Given the description of an element on the screen output the (x, y) to click on. 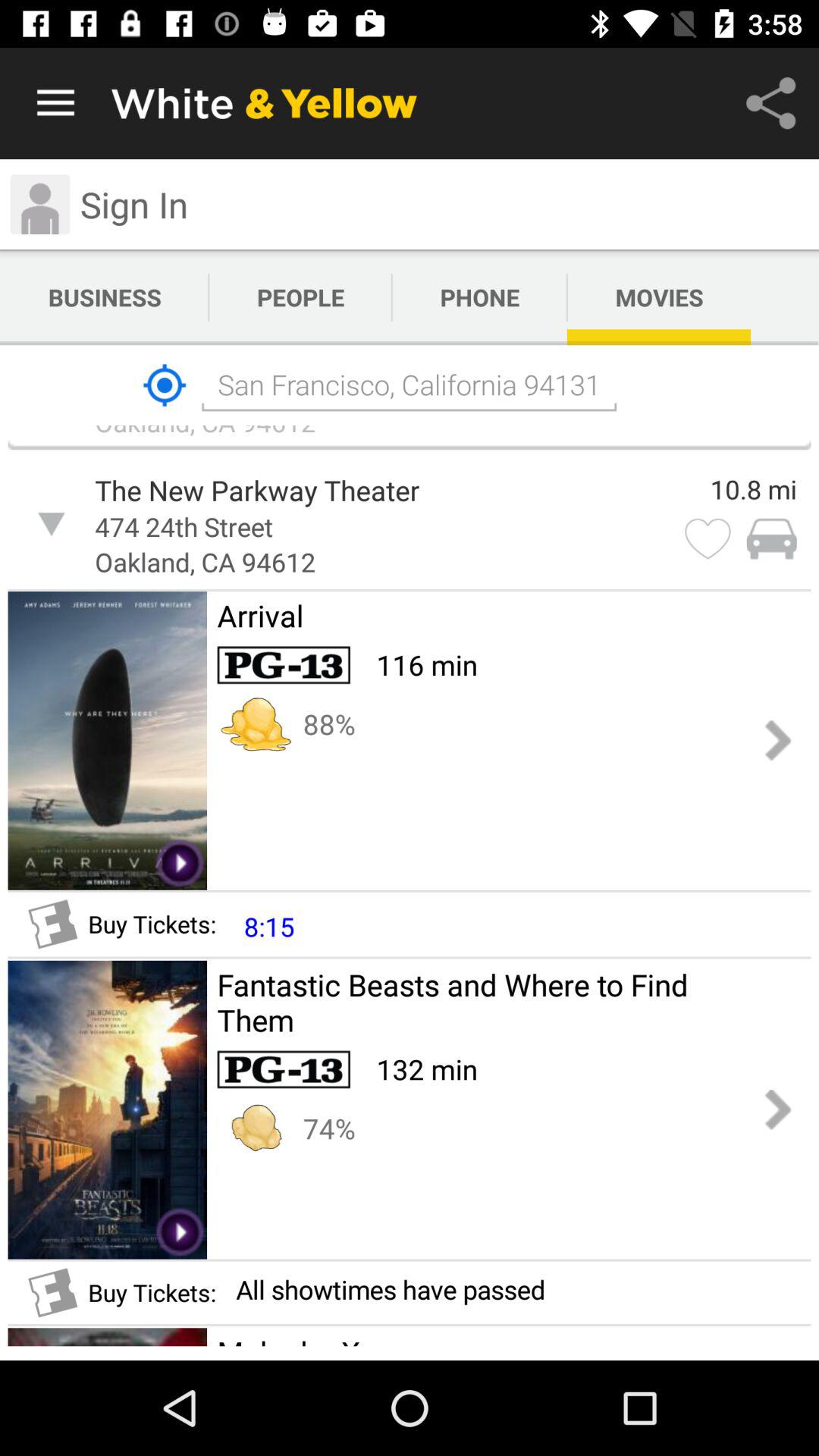
click on the play button in the second image (180, 1232)
